Given the description of an element on the screen output the (x, y) to click on. 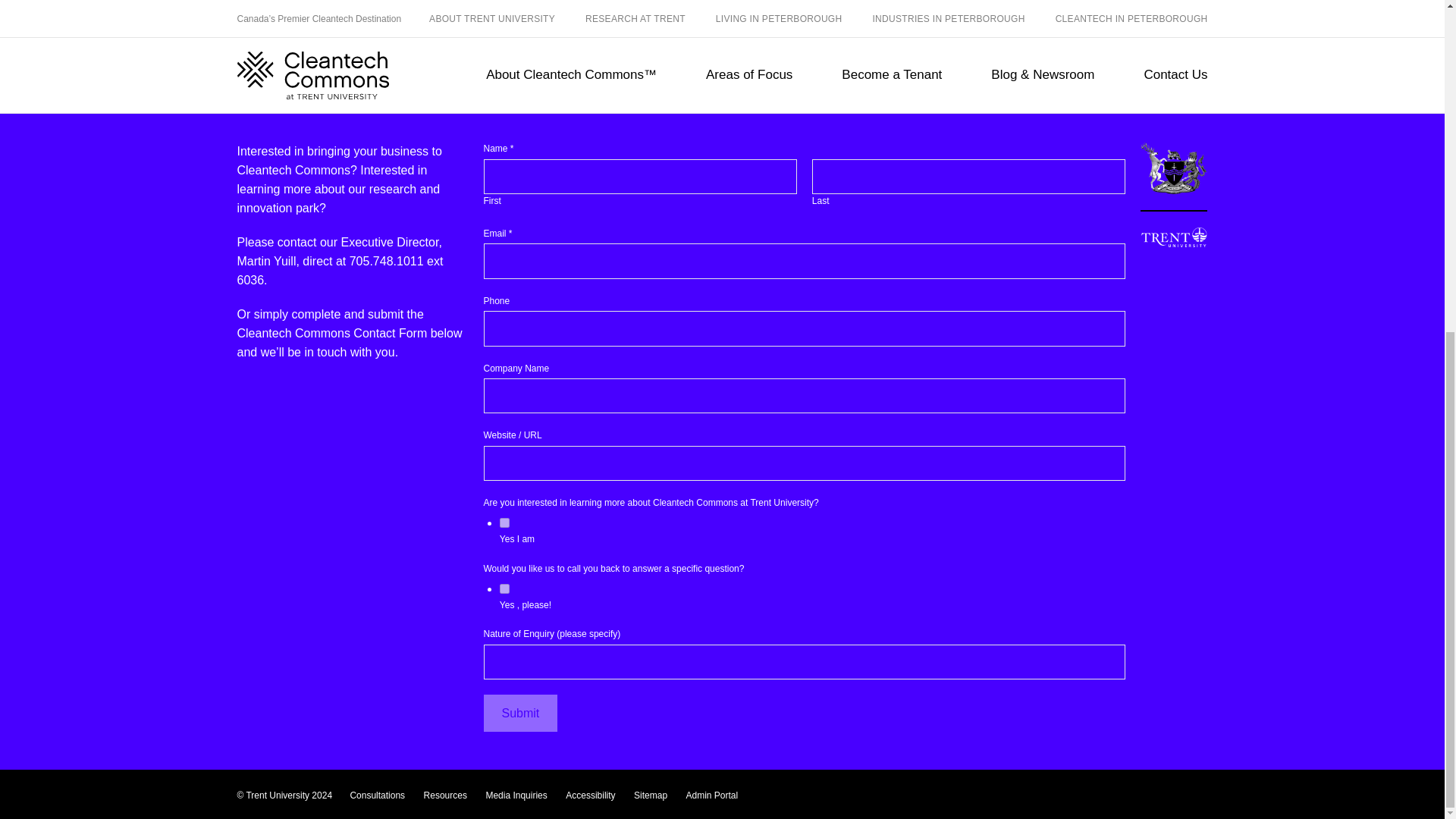
Accessibility (590, 795)
Sitemap (649, 795)
Submit (520, 713)
Admin Portal (711, 795)
Resources (445, 795)
Yes , please! (504, 588)
Consultations (376, 795)
Media Inquiries (515, 795)
Yes I am (504, 522)
